Given the description of an element on the screen output the (x, y) to click on. 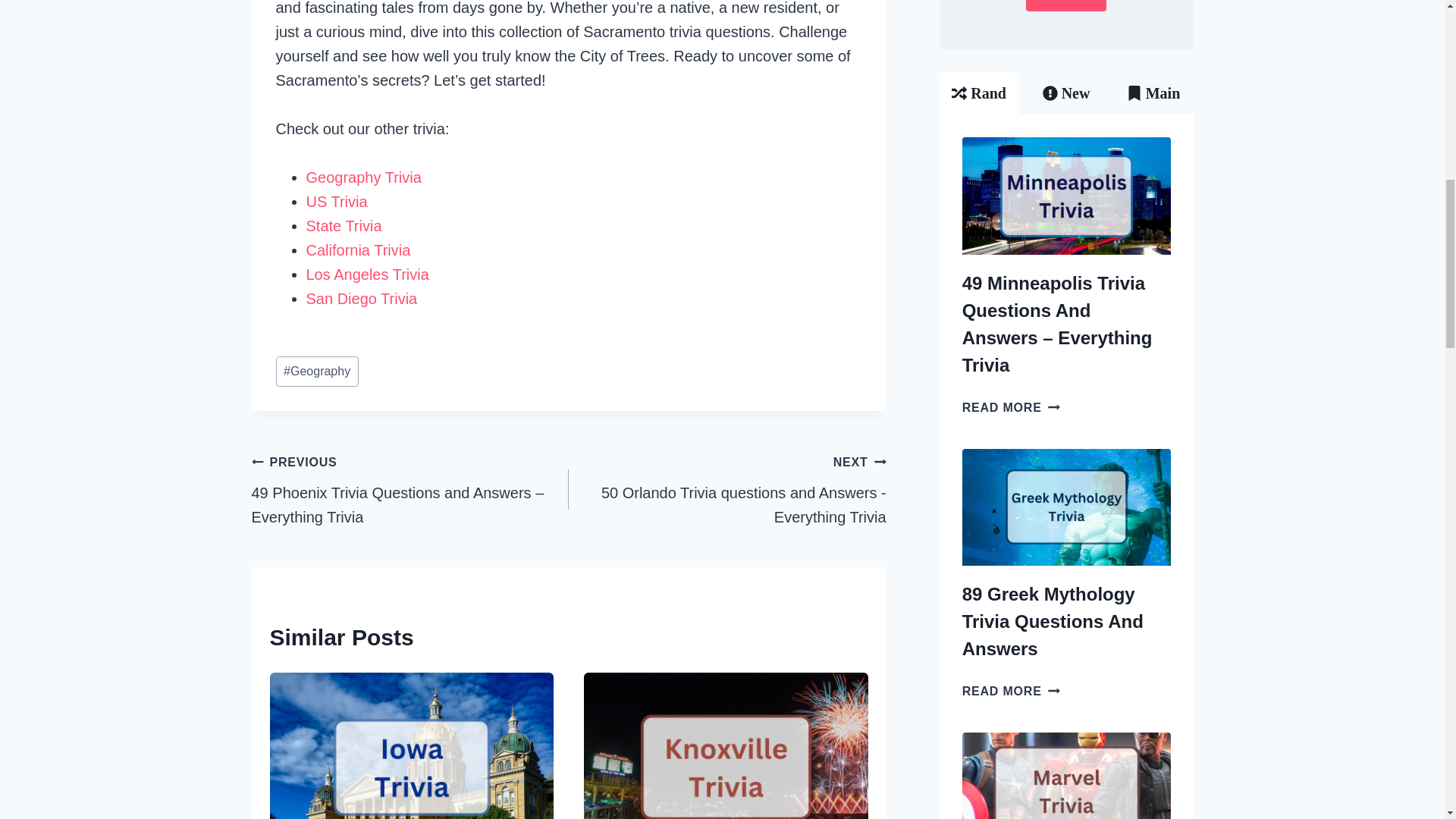
via (357, 201)
Los Angeles Trivia (367, 274)
US Tri (327, 201)
Geography Trivia (363, 176)
California Trivia (357, 249)
ia (375, 225)
State Triv (337, 225)
San Diego Trivia (361, 298)
Geography (317, 371)
